Given the description of an element on the screen output the (x, y) to click on. 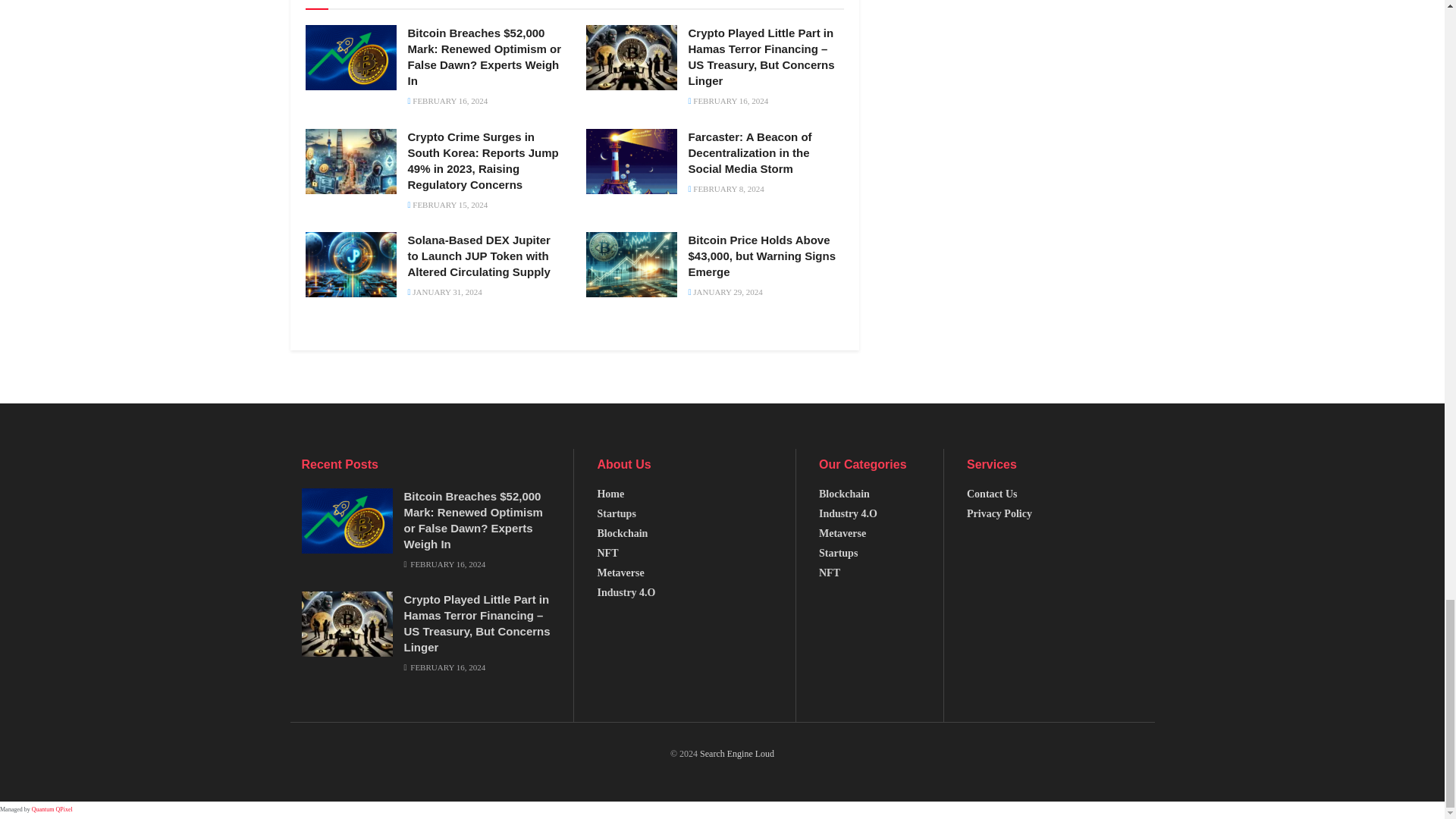
Search Engine Loud (737, 753)
